Given the description of an element on the screen output the (x, y) to click on. 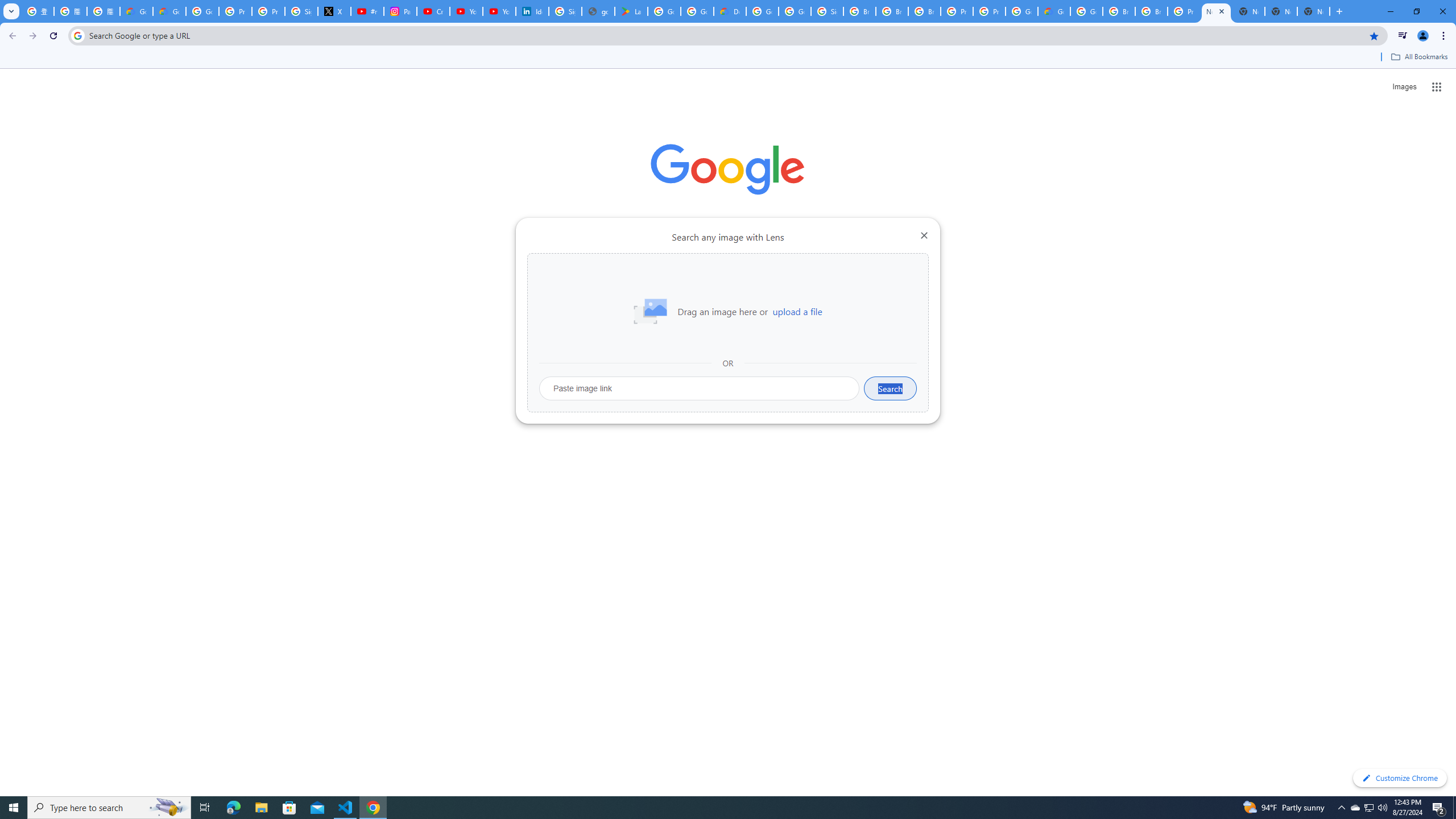
upload a file (796, 311)
Browse Chrome as a guest - Computer - Google Chrome Help (1118, 11)
Paste image link (699, 388)
